Given the description of an element on the screen output the (x, y) to click on. 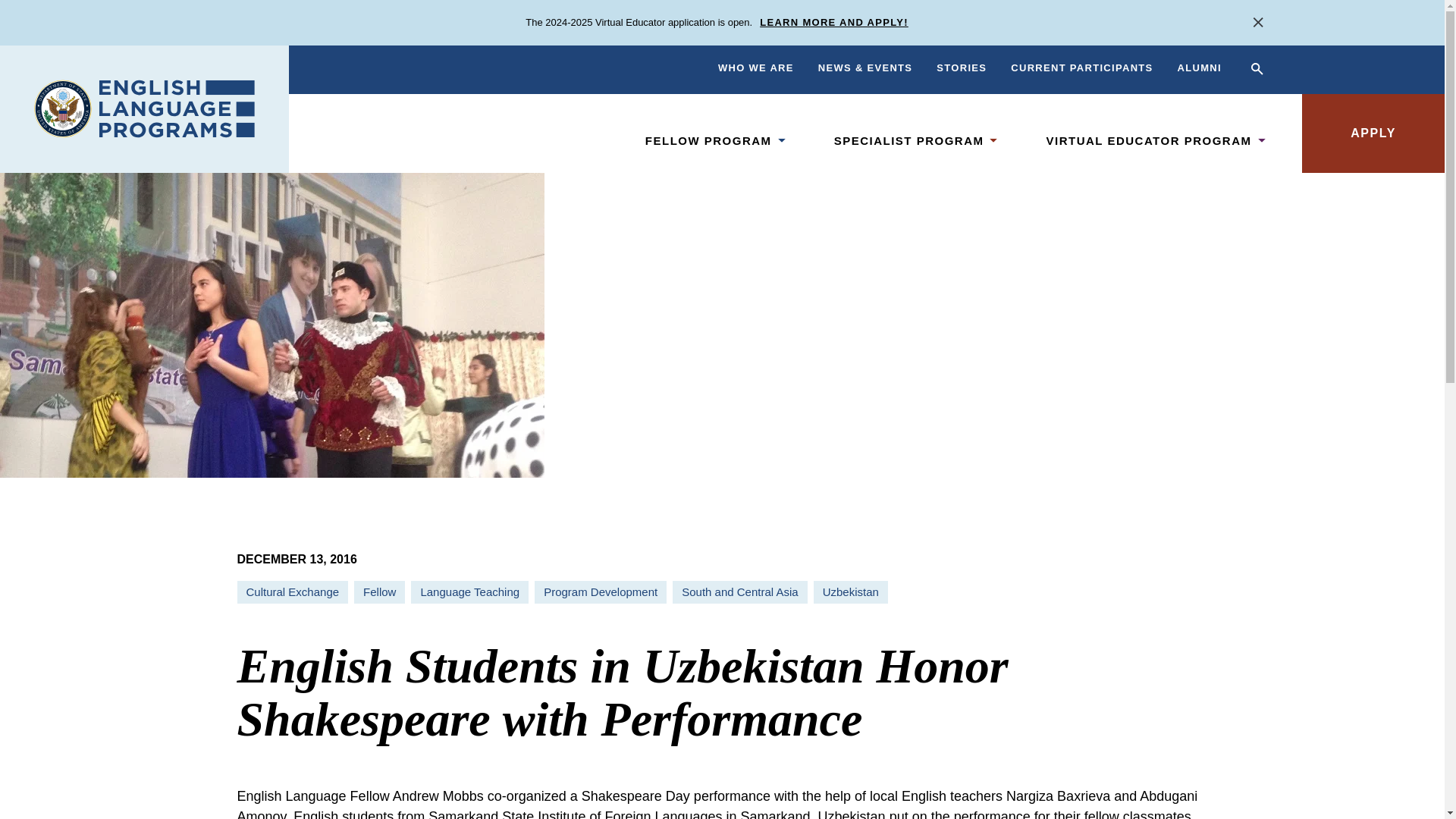
CURRENT PARTICIPANTS (1081, 67)
WHO WE ARE (755, 67)
VIRTUAL EDUCATOR PROGRAM (1147, 140)
STORIES (961, 67)
ALUMNI (1199, 67)
FELLOW PROGRAM (708, 140)
SPECIALIST PROGRAM (909, 140)
LEARN MORE AND APPLY! (834, 22)
